Given the description of an element on the screen output the (x, y) to click on. 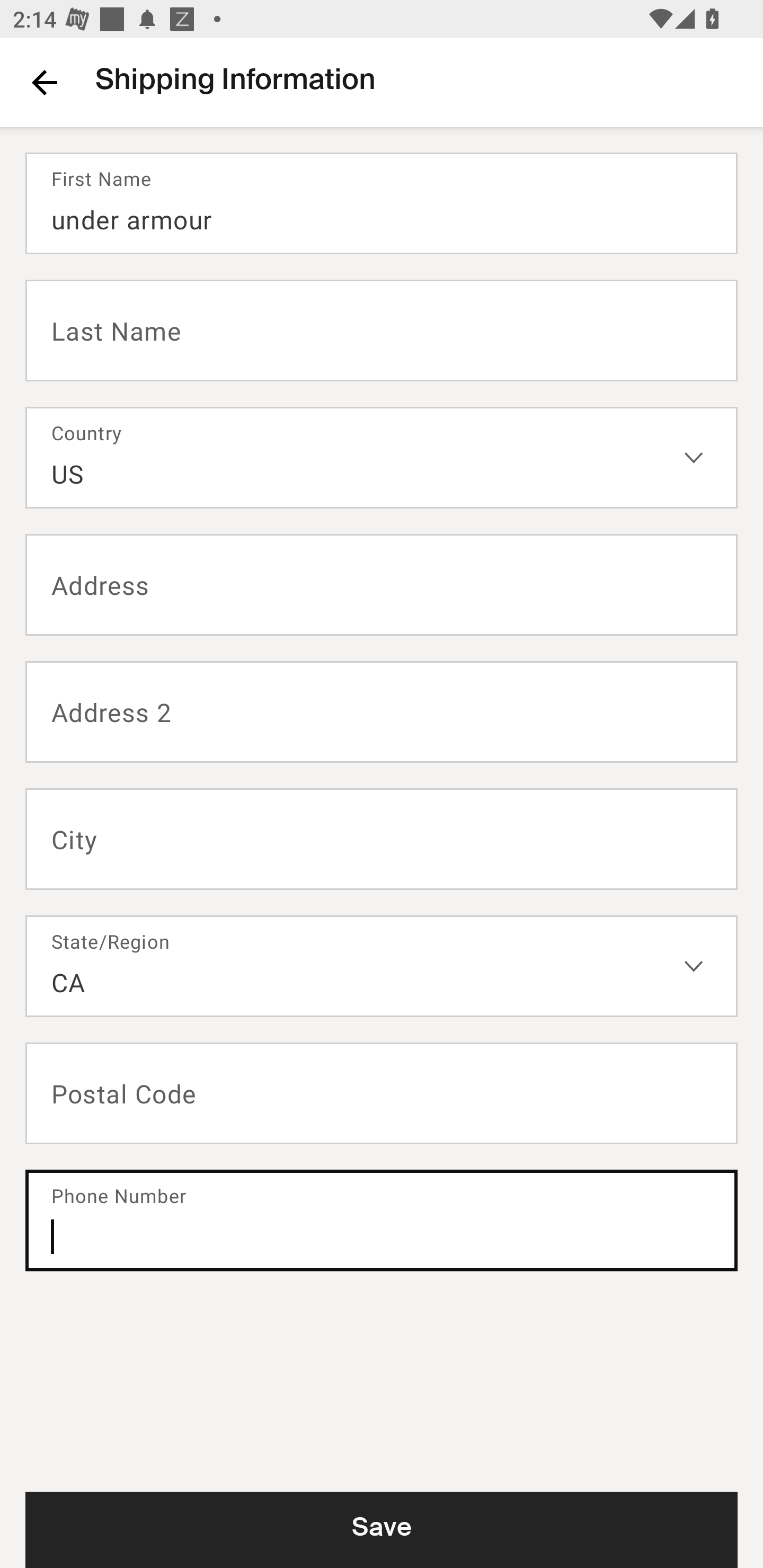
Navigate up (44, 82)
under armour
 First Name (381, 203)
Last Name (381, 330)
Address (381, 584)
Address 2 (381, 711)
City (381, 839)
Postal Code (381, 1093)
Phone Number (381, 1220)
Save (381, 1529)
